Given the description of an element on the screen output the (x, y) to click on. 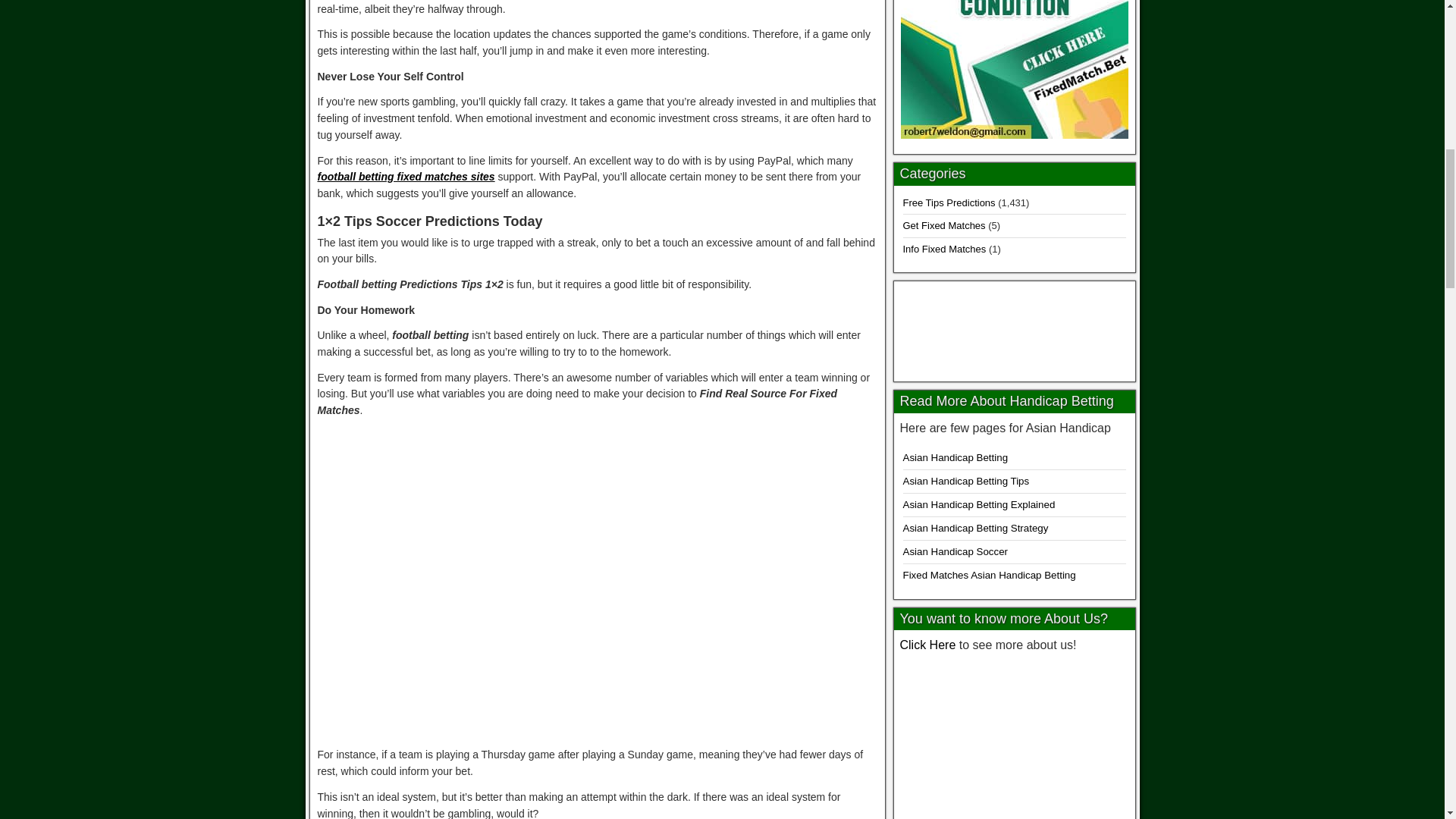
Asian Handicap Betting Tips (965, 480)
Asian Handicap Betting (954, 457)
winning tips predictions sources (1013, 738)
fixed matches 1x2 (1014, 328)
football betting fixed matches sites (406, 176)
Get Fixed Matches (943, 225)
Info Fixed Matches (943, 248)
Asian Handicap Betting Explained (978, 504)
Free Tips Predictions (948, 202)
Asian Handicap Betting Strategy (975, 527)
